Given the description of an element on the screen output the (x, y) to click on. 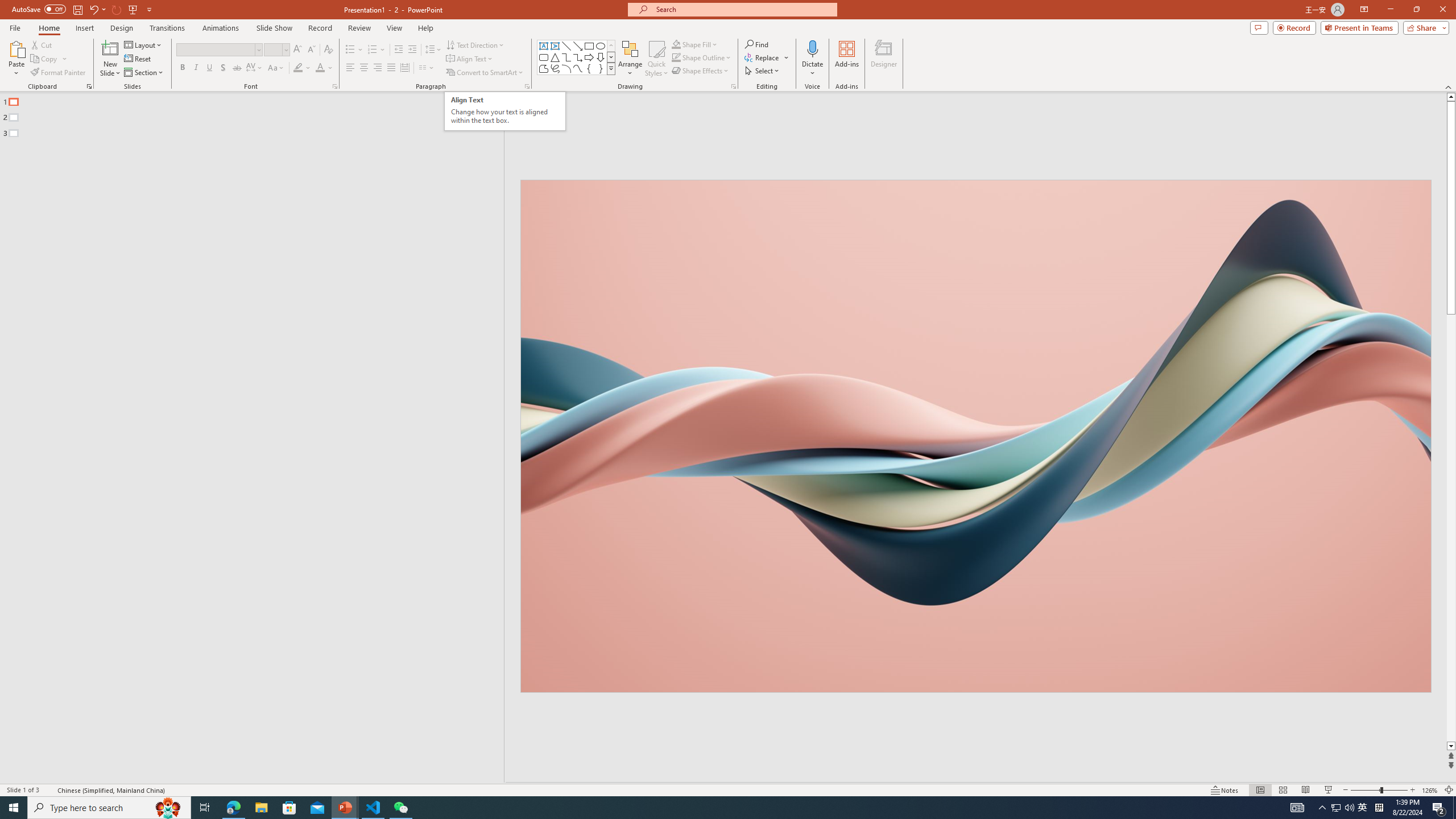
Shape Effects (700, 69)
